Given the description of an element on the screen output the (x, y) to click on. 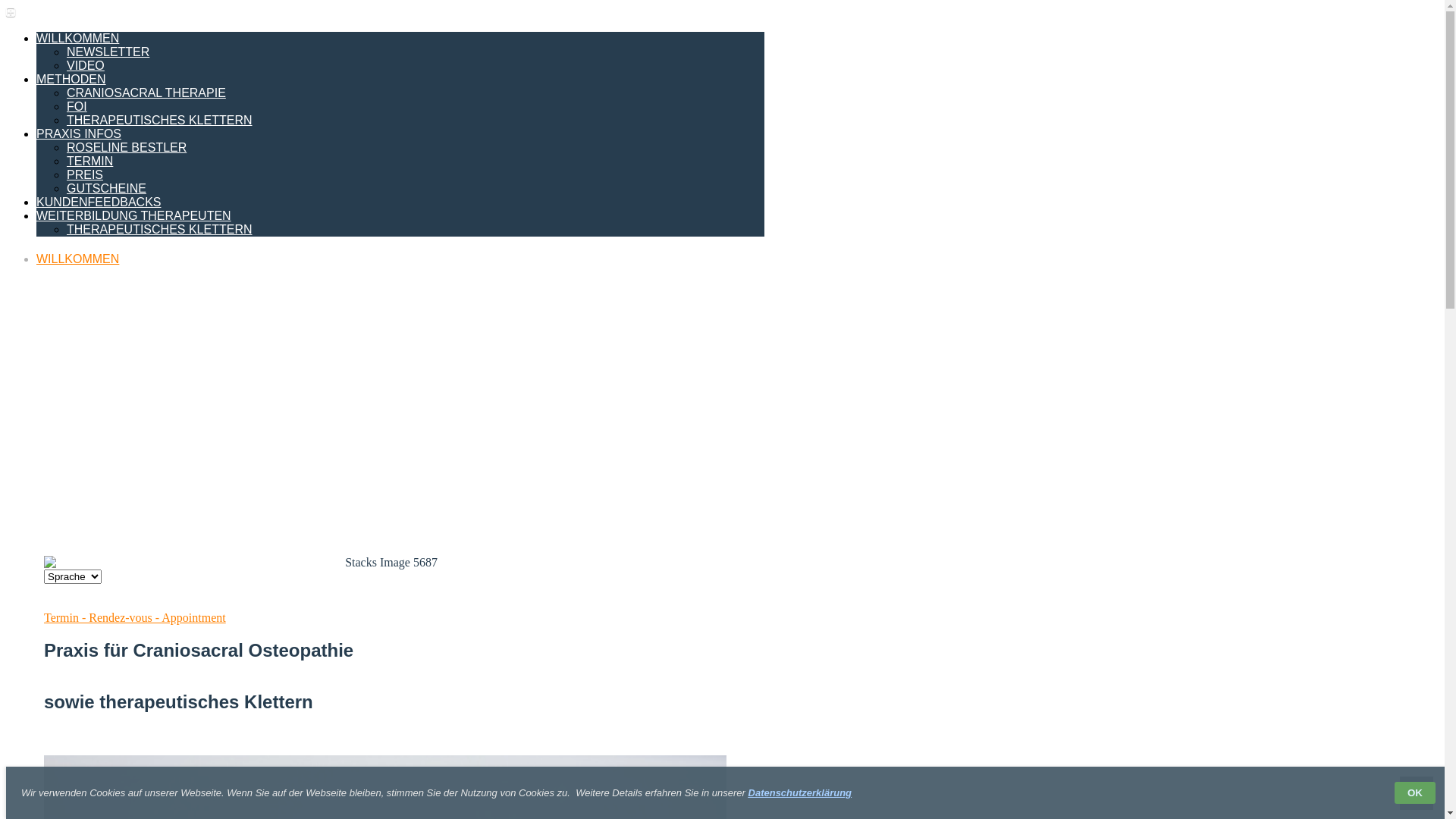
ROSELINE BESTLER Element type: text (126, 147)
OK Element type: text (1414, 792)
WEITERBILDUNG THERAPEUTEN Element type: text (133, 215)
PREIS Element type: text (84, 174)
METHODEN Element type: text (71, 78)
Termin - Rendez-vous - Appointment Element type: text (134, 617)
CRANIOSACRAL THERAPIE Element type: text (145, 92)
WILLKOMMEN Element type: text (77, 37)
TERMIN Element type: text (89, 160)
FOI Element type: text (76, 106)
KUNDENFEEDBACKS Element type: text (98, 201)
PRAXIS INFOS Element type: text (78, 133)
THERAPEUTISCHES KLETTERN Element type: text (158, 228)
NEWSLETTER Element type: text (107, 51)
THERAPEUTISCHES KLETTERN Element type: text (158, 119)
WILLKOMMEN Element type: text (77, 258)
GUTSCHEINE Element type: text (106, 188)
VIDEO Element type: text (85, 65)
